Given the description of an element on the screen output the (x, y) to click on. 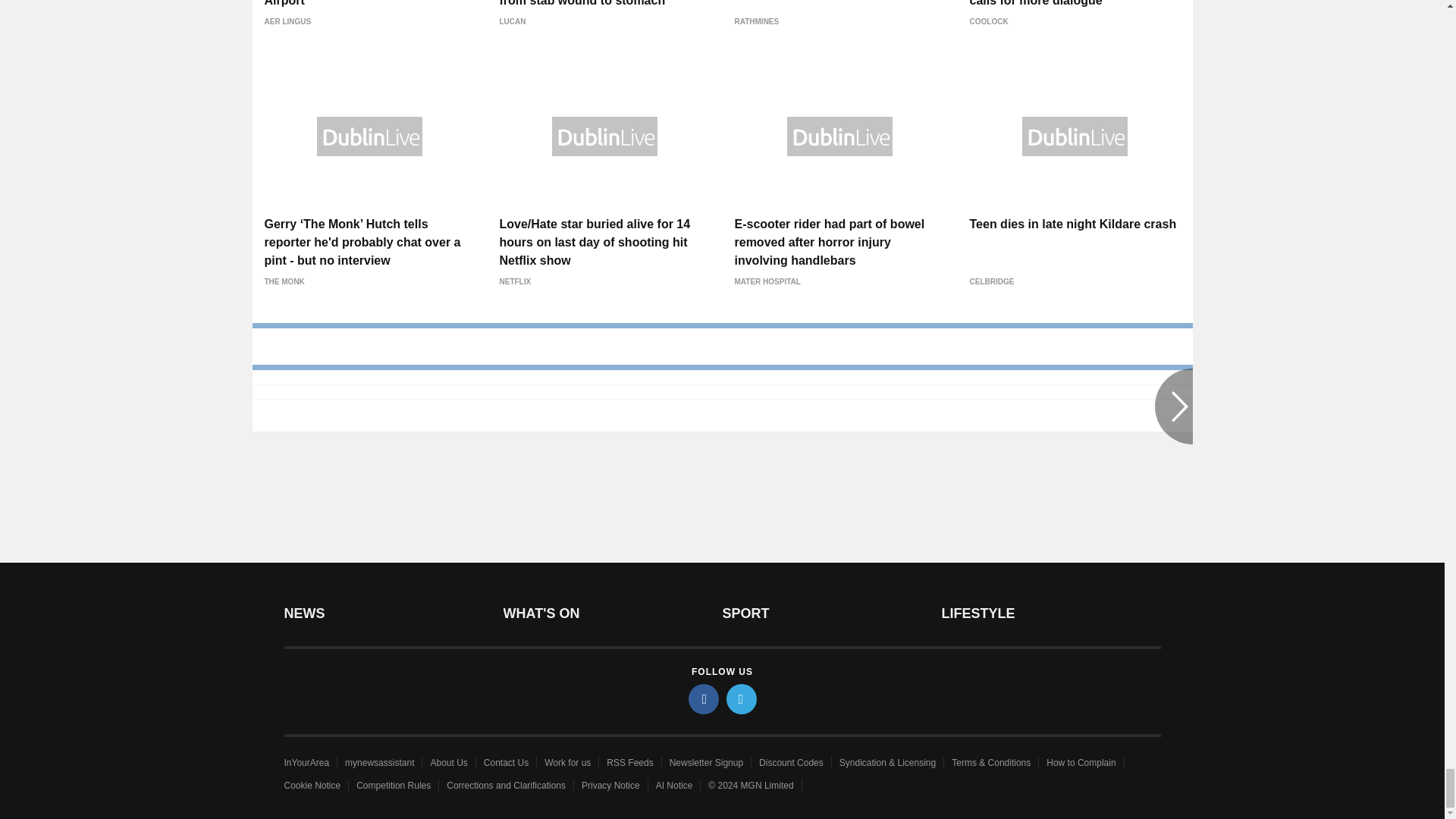
twitter (741, 698)
facebook (703, 698)
